Given the description of an element on the screen output the (x, y) to click on. 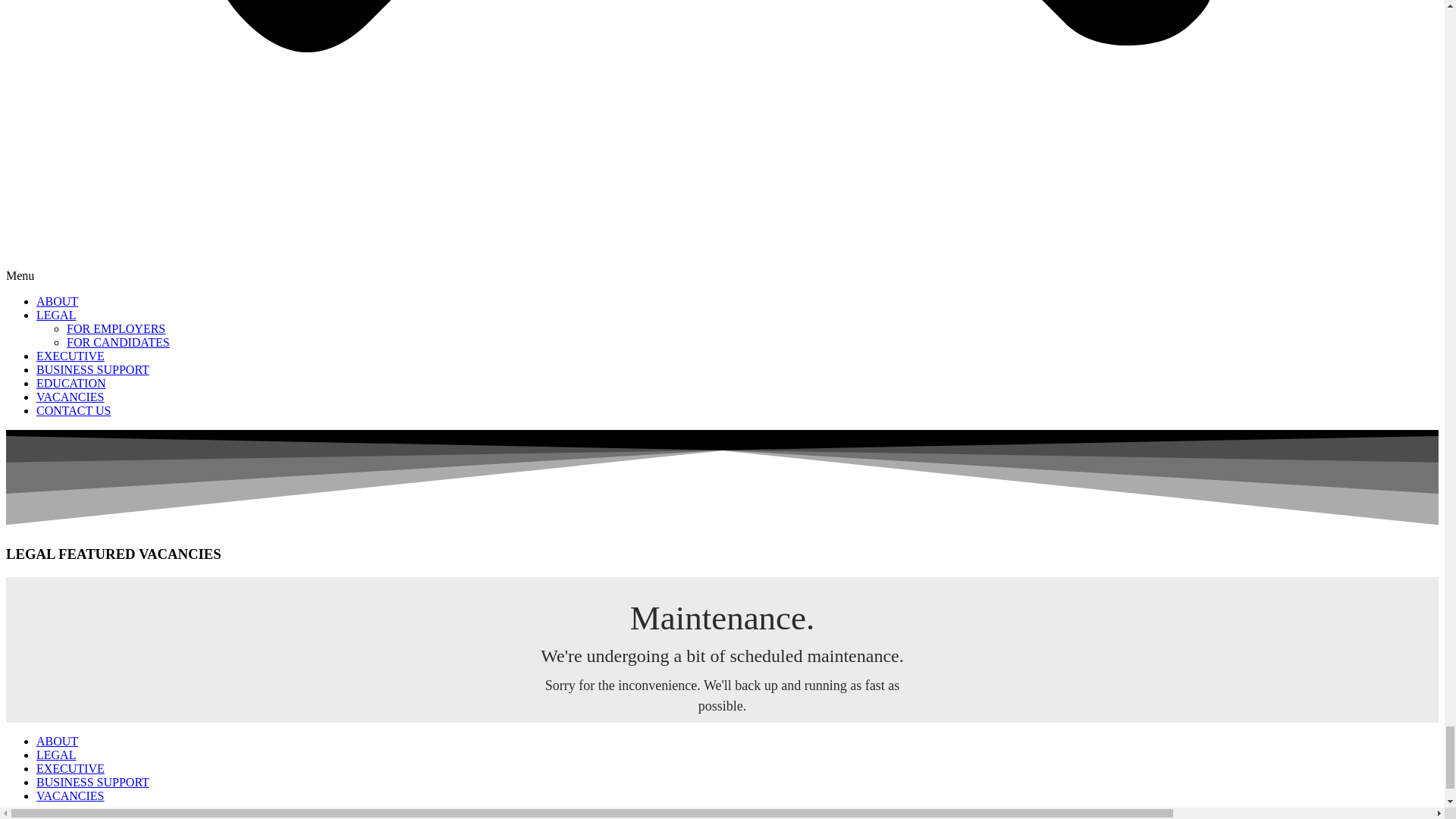
Email: info@darerecruitment.com.au Element type: text (126, 37)
Phone: 07 3849 4501 Element type: text (87, 51)
Skip to content Element type: text (42, 12)
